Given the description of an element on the screen output the (x, y) to click on. 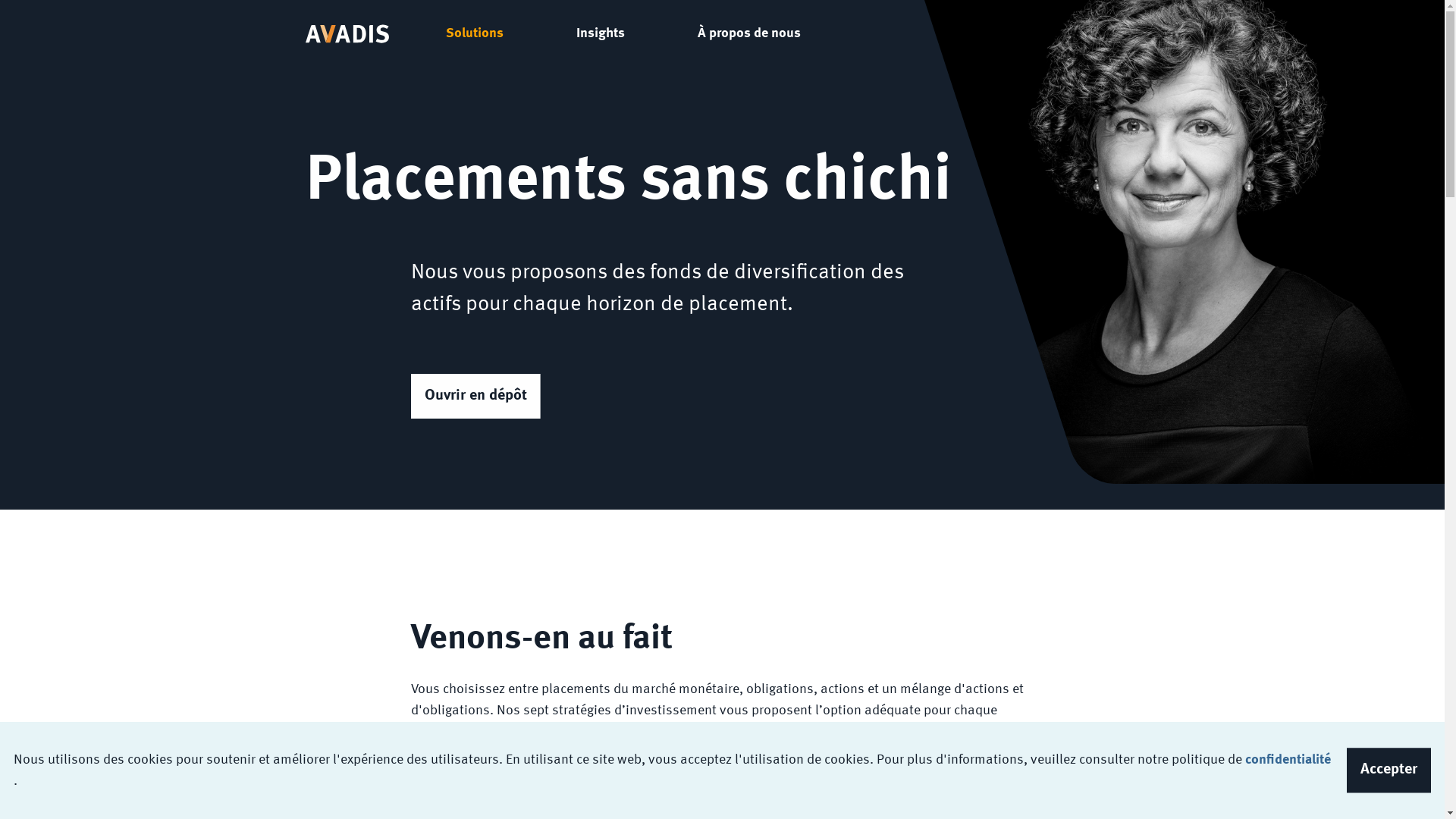
Accepter Element type: text (1388, 769)
